Given the description of an element on the screen output the (x, y) to click on. 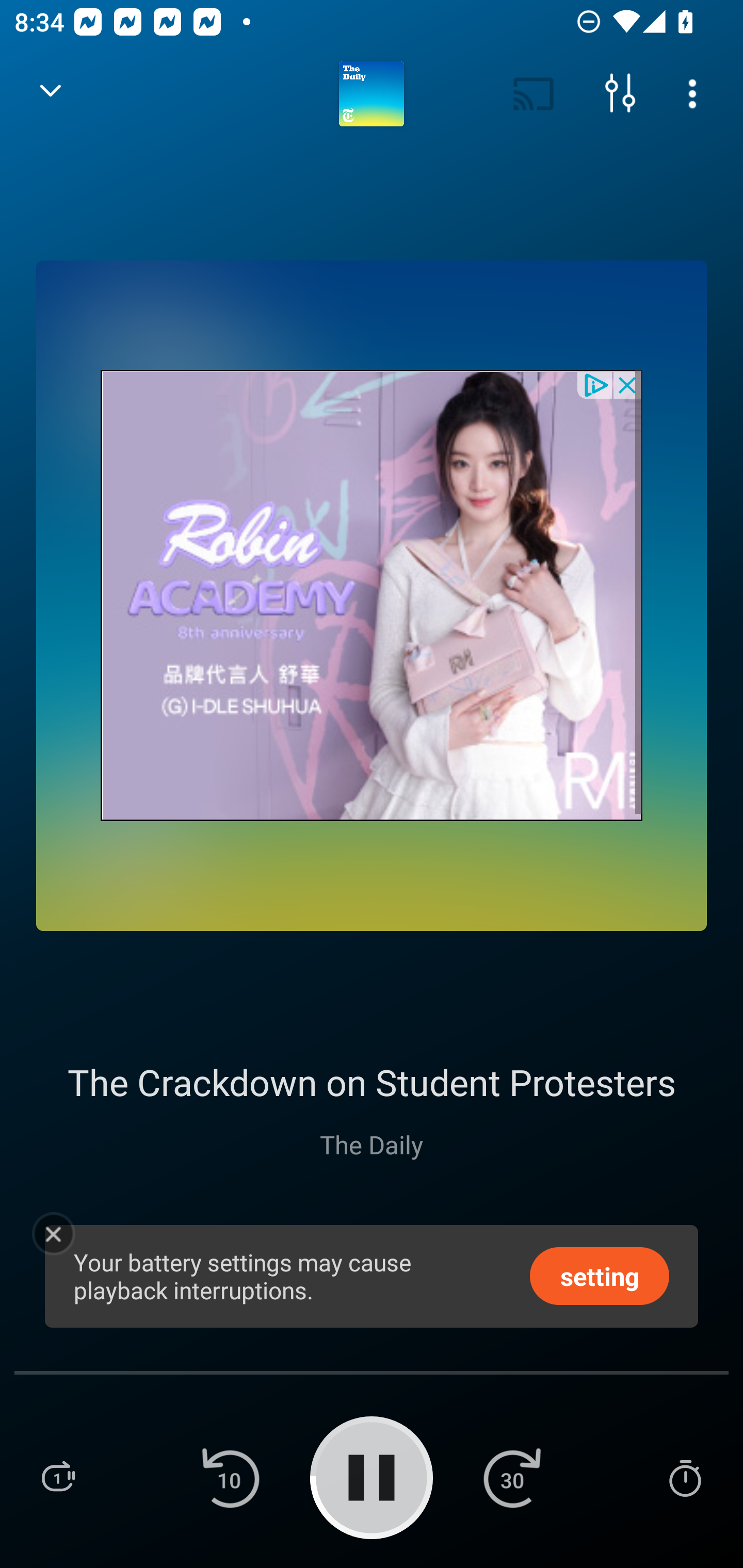
Cast. Disconnected (533, 93)
 Back (50, 94)
The Crackdown on Student Protesters (371, 1081)
The Daily (371, 1144)
setting (599, 1275)
 Playlist (57, 1477)
Sleep Timer  (684, 1477)
